Given the description of an element on the screen output the (x, y) to click on. 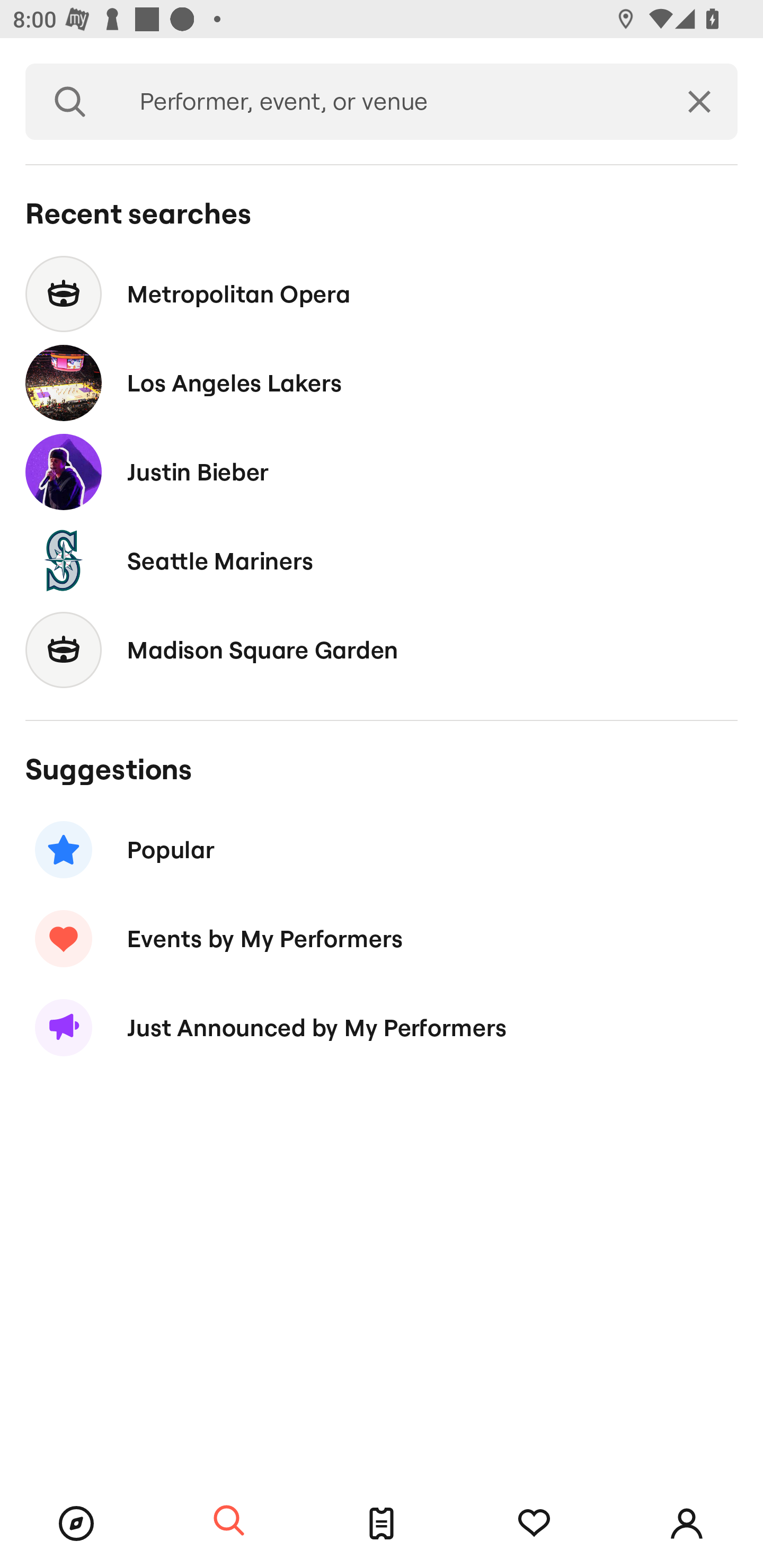
Search (69, 101)
Performer, event, or venue (387, 101)
Clear (699, 101)
Metropolitan Opera (381, 293)
Los Angeles Lakers (381, 383)
Justin Bieber (381, 471)
Seattle Mariners (381, 560)
Madison Square Garden (381, 649)
Popular (381, 849)
Events by My Performers (381, 938)
Just Announced by My Performers (381, 1027)
Browse (76, 1523)
Search (228, 1521)
Tickets (381, 1523)
Tracking (533, 1523)
Account (686, 1523)
